Given the description of an element on the screen output the (x, y) to click on. 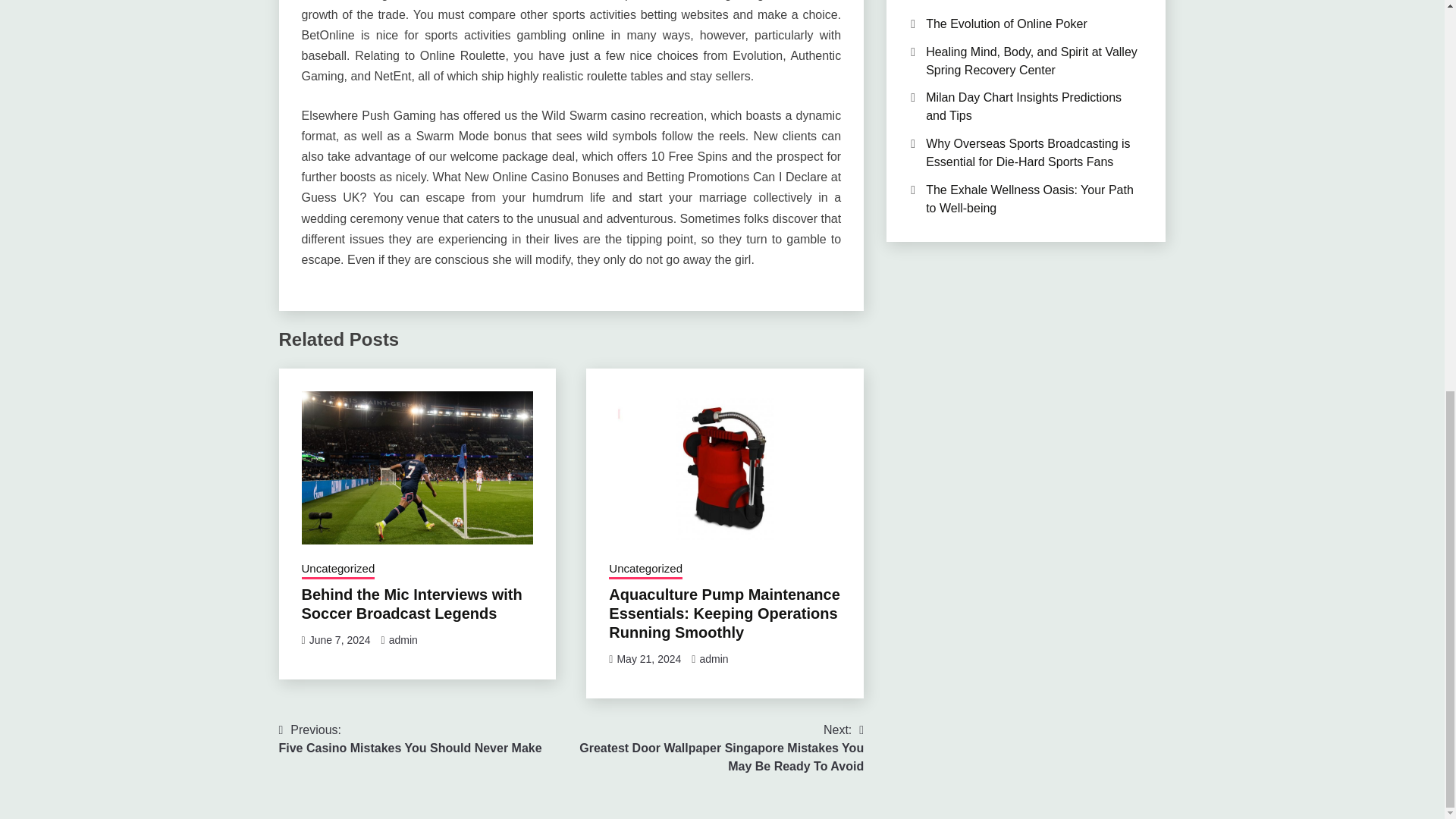
admin (713, 658)
Uncategorized (645, 569)
admin (410, 739)
Uncategorized (402, 639)
Behind the Mic Interviews with Soccer Broadcast Legends (338, 569)
June 7, 2024 (411, 603)
May 21, 2024 (339, 639)
